Given the description of an element on the screen output the (x, y) to click on. 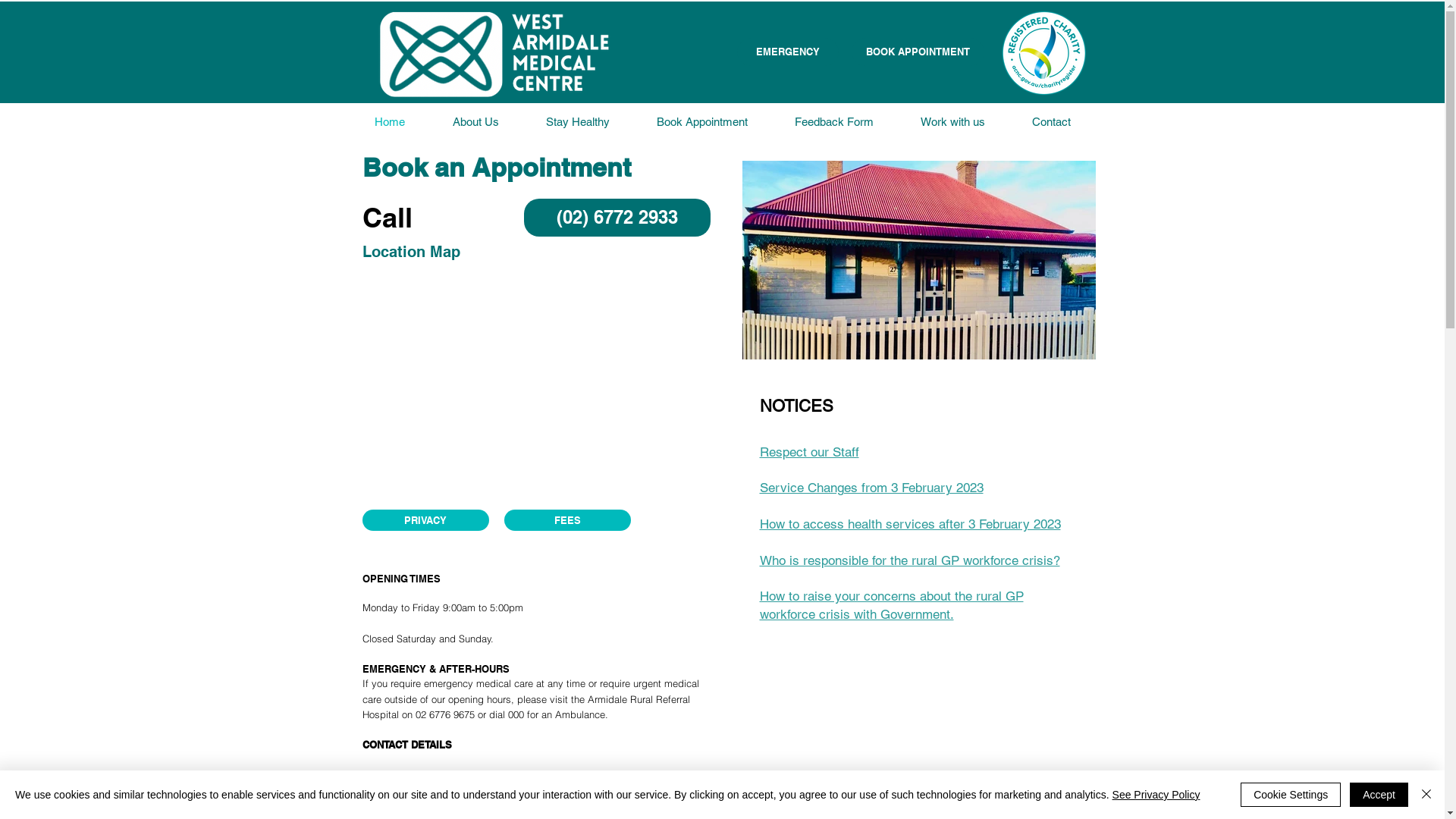
About Us Element type: text (475, 122)
See Privacy Policy Element type: text (1156, 794)
Respect our Staff Element type: text (809, 451)
Cookie Settings Element type: text (1290, 794)
Feedback Form Element type: text (834, 122)
Feedback Form Element type: text (833, 122)
Work with us Element type: text (952, 122)
Stay Healthy Element type: text (577, 122)
EMERGENCY Element type: text (1023, 54)
How to access health services after 3 February 2023 Element type: text (909, 523)
(02) 6772 2933 Element type: text (616, 217)
BOOK APPOINTMENT Element type: text (916, 51)
A6DD89AC-EB20-4119-9A53-D2A45E46152D_edi Element type: hover (491, 54)
Service Changes from 3 February 2023 Element type: text (871, 487)
Accept Element type: text (1378, 794)
Contact Element type: text (1051, 122)
FEES Element type: text (566, 519)
Home Element type: text (388, 122)
Stay Healthy Element type: text (576, 122)
Google Maps Element type: hover (538, 383)
Who is responsible for the rural GP workforce crisis? Element type: text (909, 559)
Book Appointment Element type: text (701, 122)
Home Element type: text (389, 122)
A6DD89AC-EB20-4119-9A53-D2A45E46152D_edi Element type: hover (499, 54)
Work with us Element type: text (951, 122)
EMERGENCY Element type: text (787, 51)
PRIVACY Element type: text (425, 519)
